Given the description of an element on the screen output the (x, y) to click on. 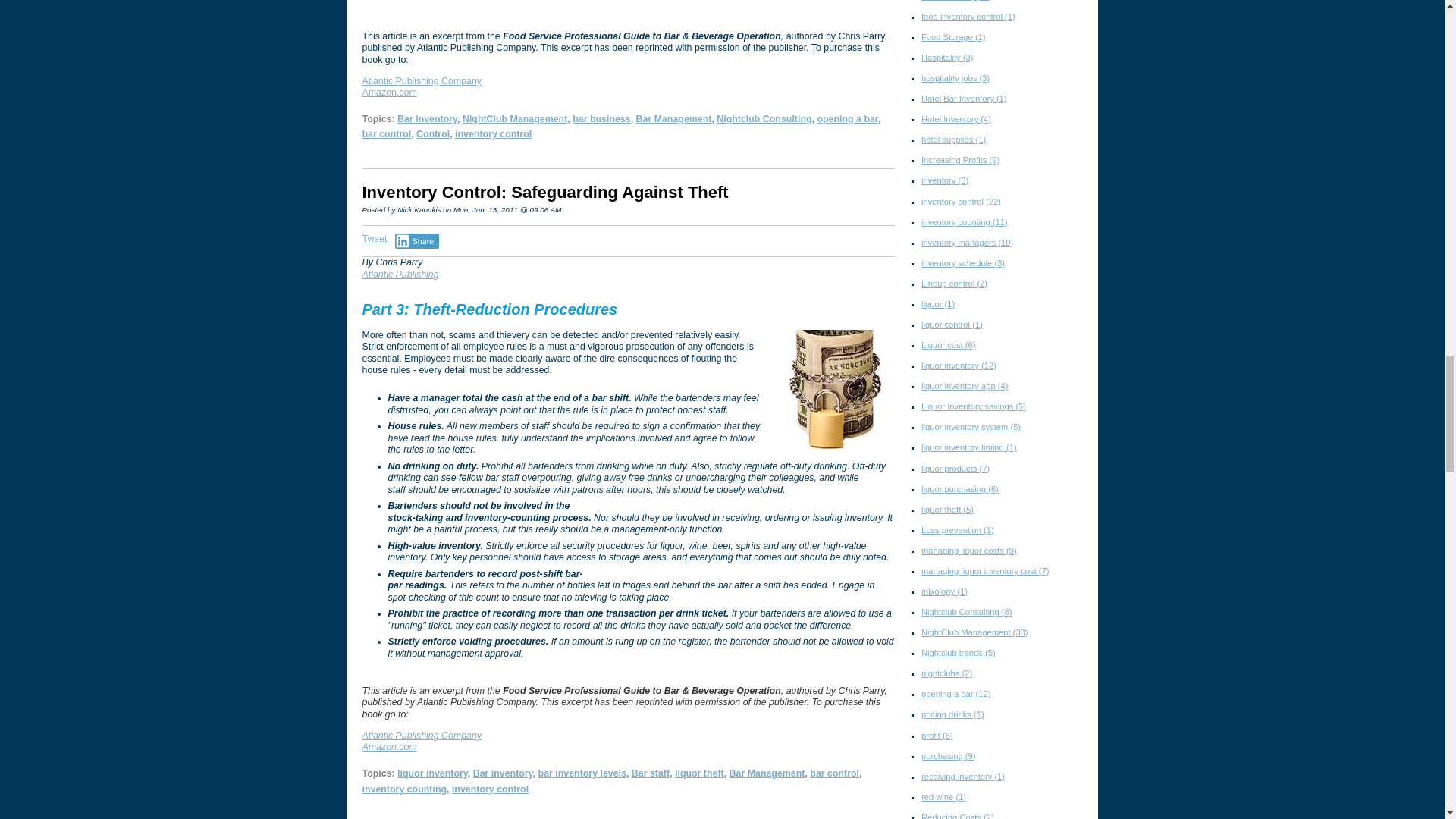
Amazon.com (389, 91)
Atlantic Publishing (400, 273)
Atlantic Publishing Company (421, 735)
Amazon.com (389, 747)
Atlantic Publishing Company (421, 81)
